Given the description of an element on the screen output the (x, y) to click on. 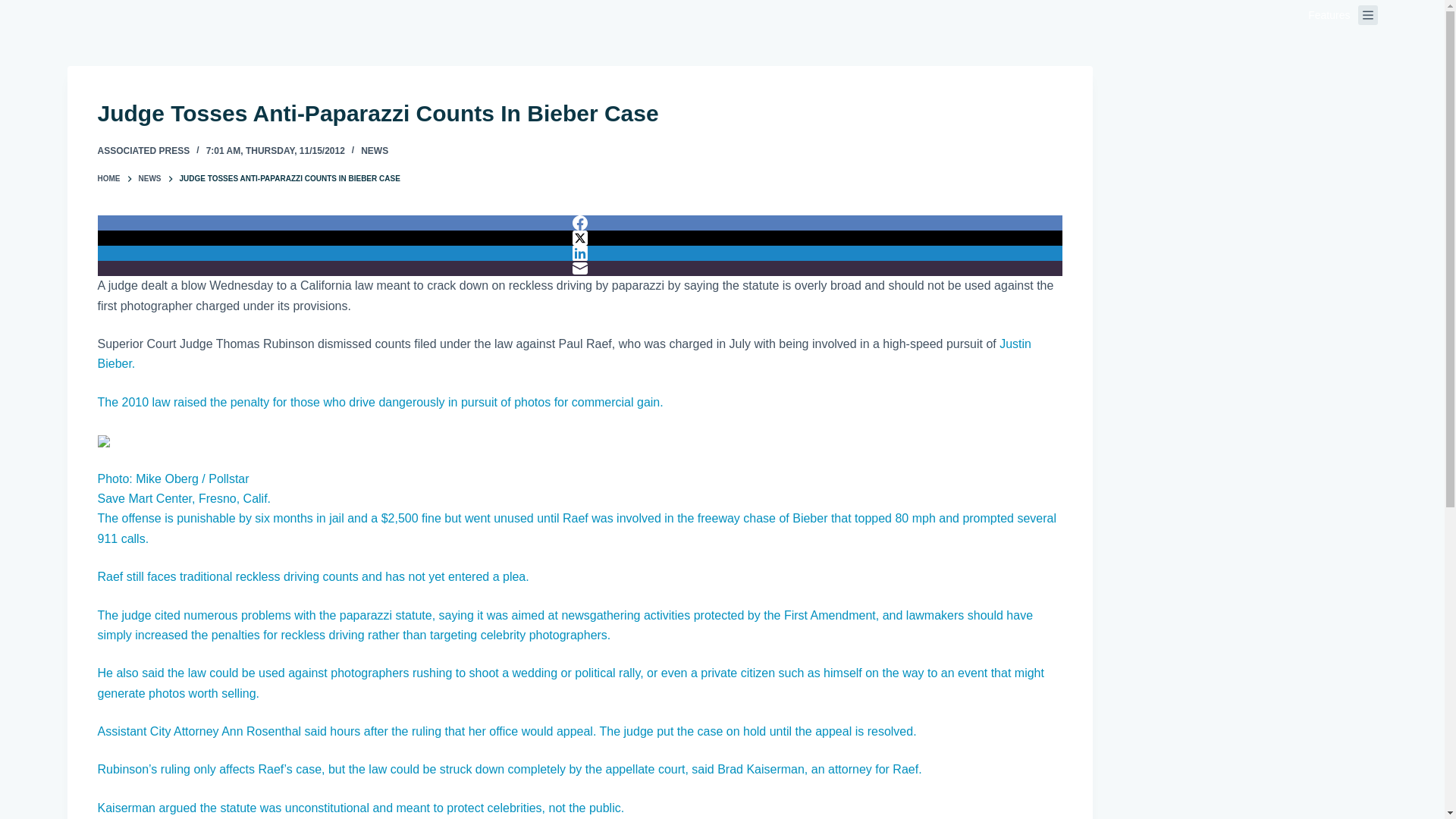
Skip to content (15, 7)
Judge Tosses Anti-Paparazzi Counts In Bieber Case (579, 113)
Posts by Associated Press (143, 150)
